Given the description of an element on the screen output the (x, y) to click on. 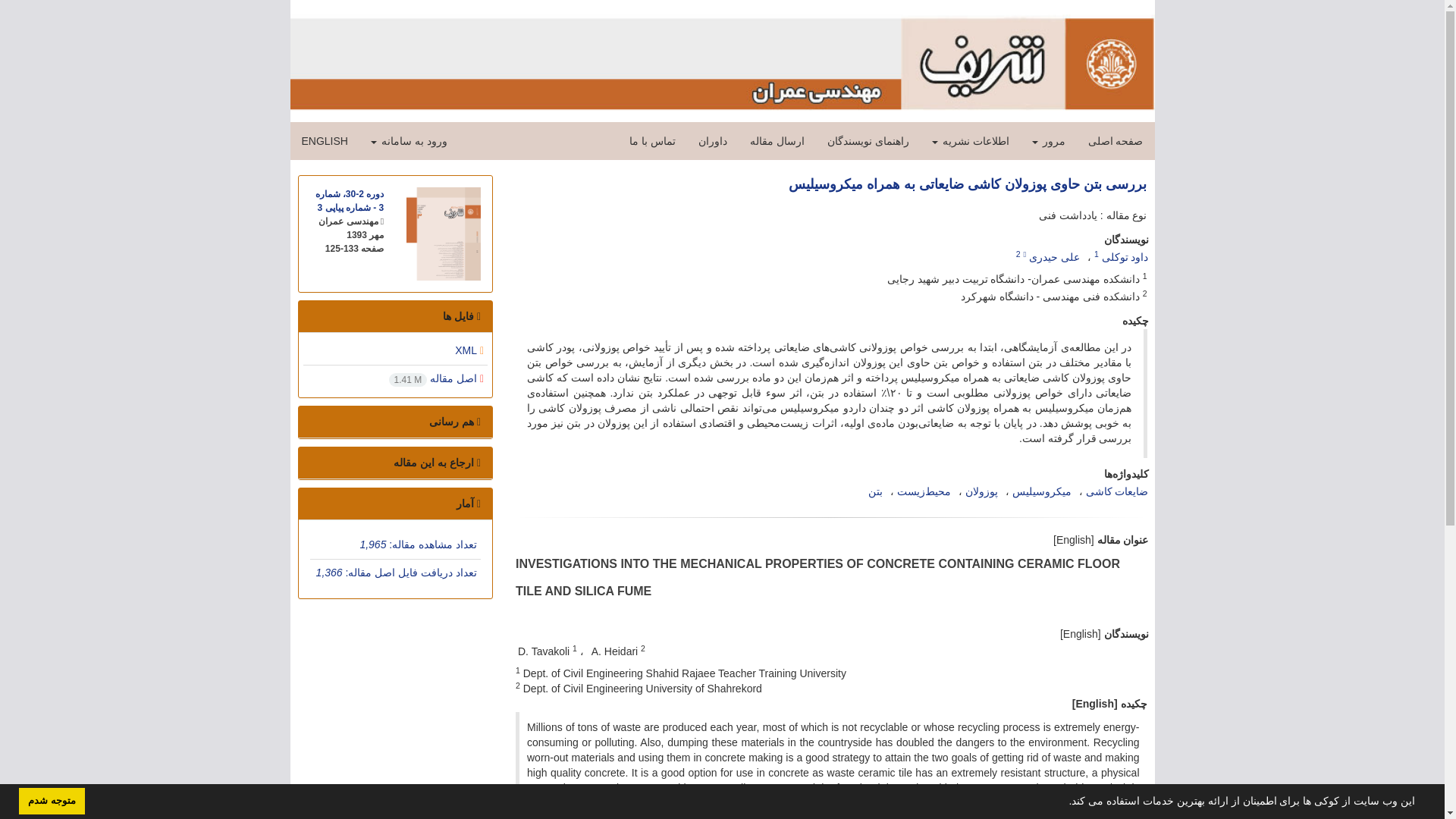
ENGLISH (323, 140)
